Given the description of an element on the screen output the (x, y) to click on. 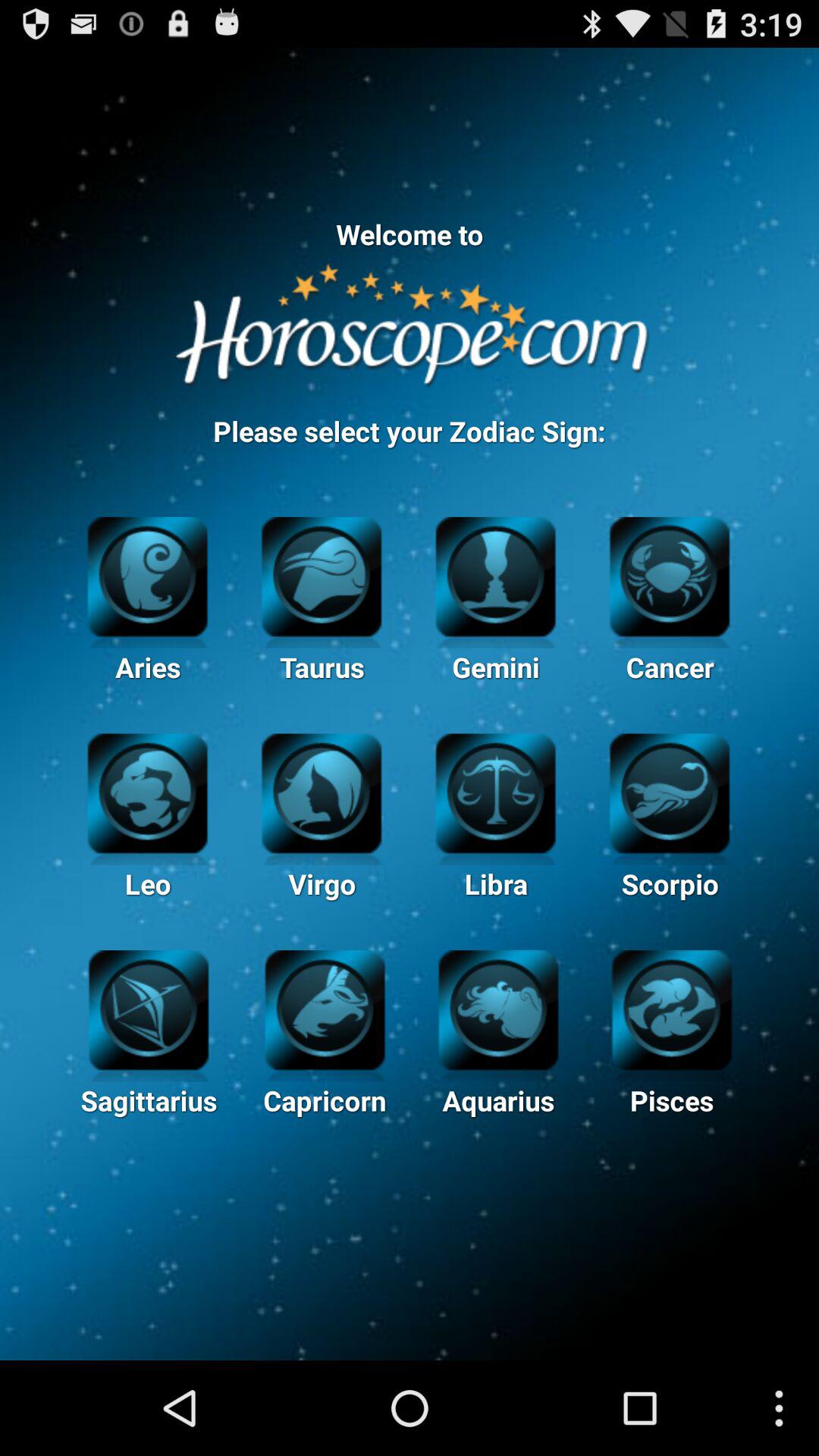
select to aries (147, 574)
